Given the description of an element on the screen output the (x, y) to click on. 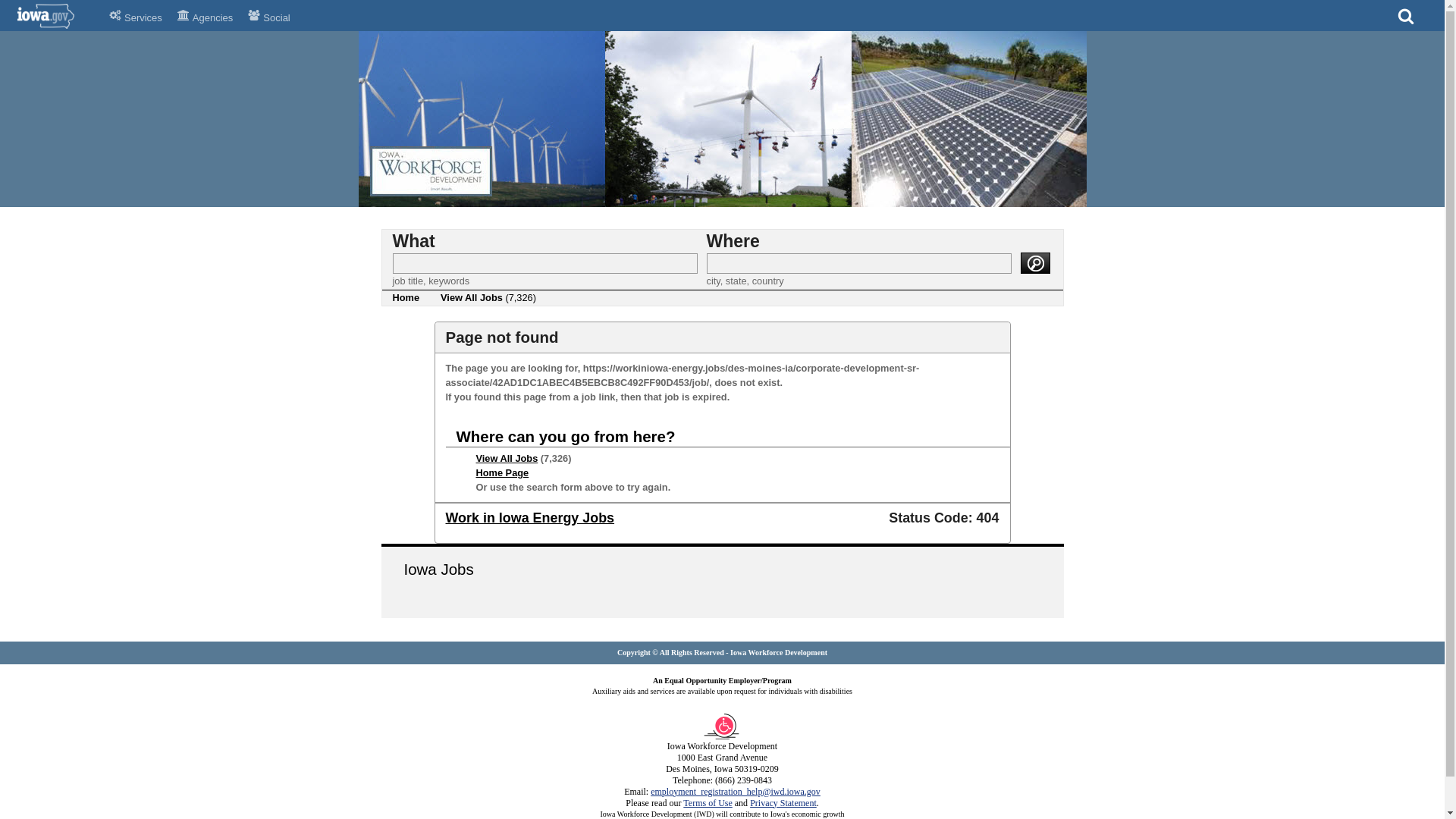
search (1034, 262)
Home Page (502, 472)
Work In Iowa (722, 203)
Privacy Statement (782, 802)
Search Phrase (545, 263)
Search Location (858, 263)
Home (405, 297)
Submit Search (1034, 262)
View All Jobs (507, 458)
Work in Iowa Energy Jobs (529, 517)
Terms of Use (707, 802)
Search (1405, 18)
Services (135, 15)
Social (268, 15)
